Given the description of an element on the screen output the (x, y) to click on. 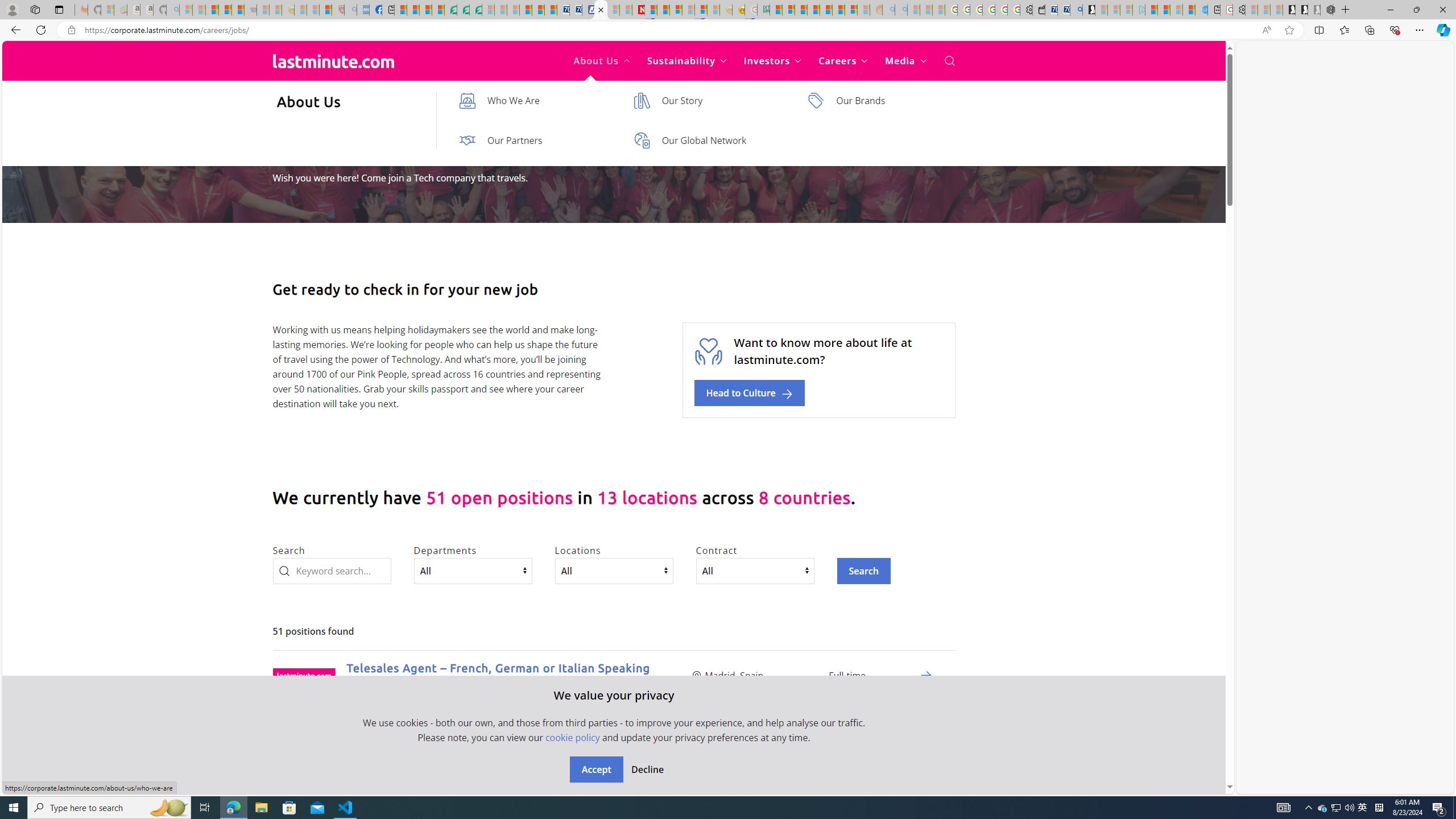
Wallet (1038, 9)
World - MSN (425, 9)
Our Story (708, 99)
Decline (646, 769)
Jobs - lastminute.com Investor Portal (600, 9)
